Given the description of an element on the screen output the (x, y) to click on. 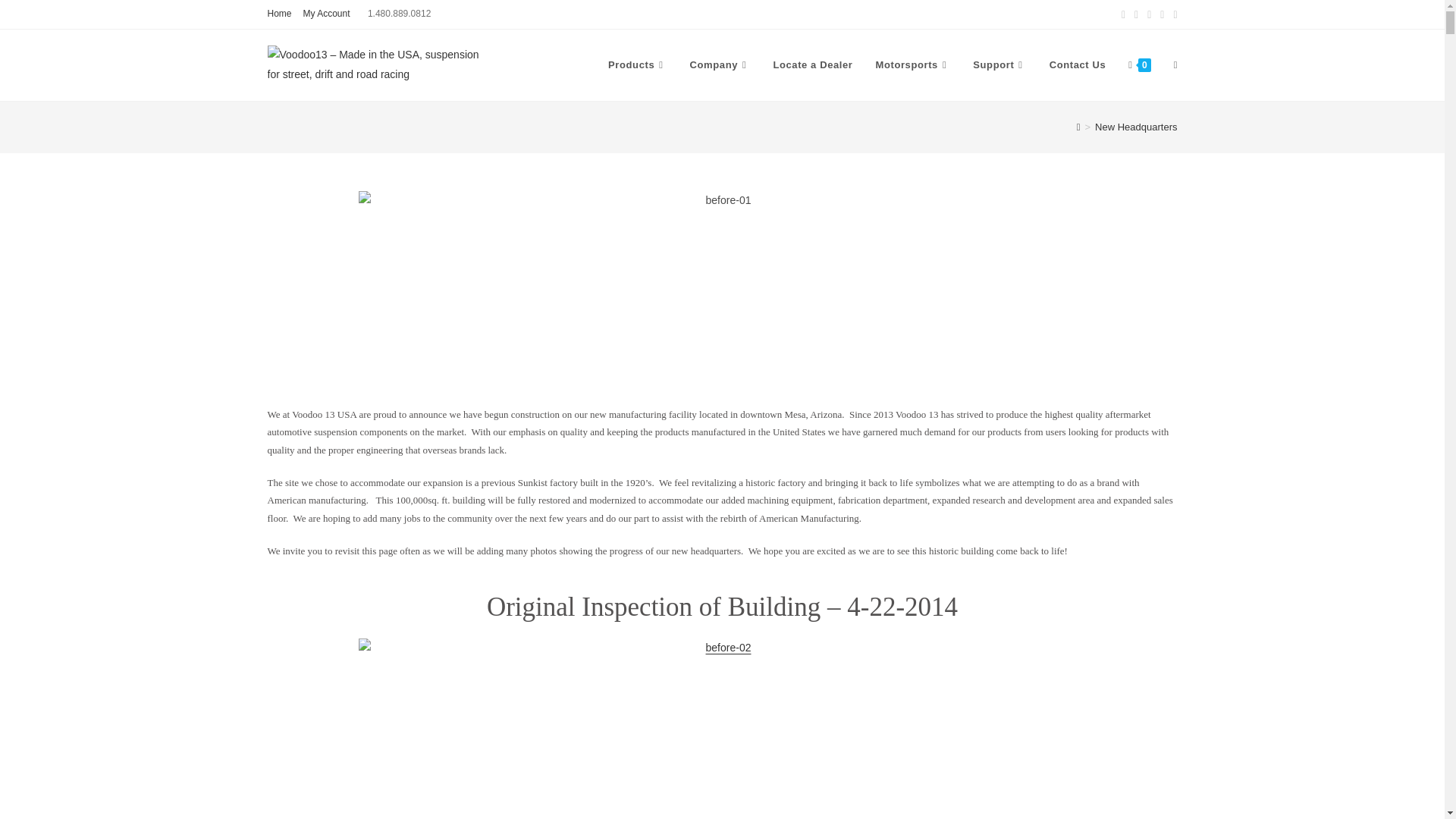
Products (637, 64)
My Account (326, 13)
Home (278, 13)
